Given the description of an element on the screen output the (x, y) to click on. 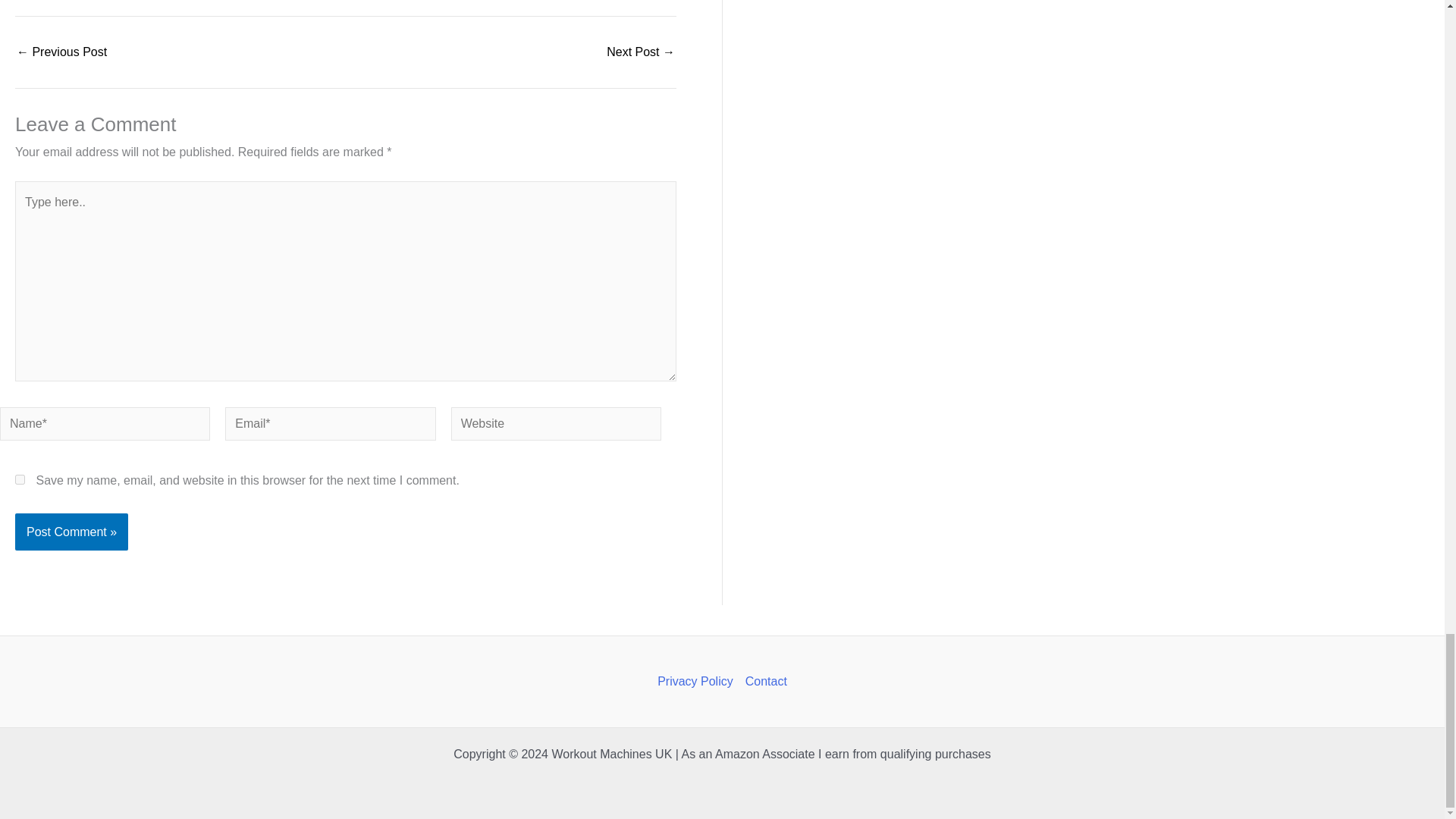
PROFORM HIIT L6 Cross Trainer Review (641, 51)
Privacy Policy (698, 681)
yes (19, 479)
NordicTrack C 5.5 Front Traction Cross Trainer Review (61, 51)
Contact (763, 681)
